Given the description of an element on the screen output the (x, y) to click on. 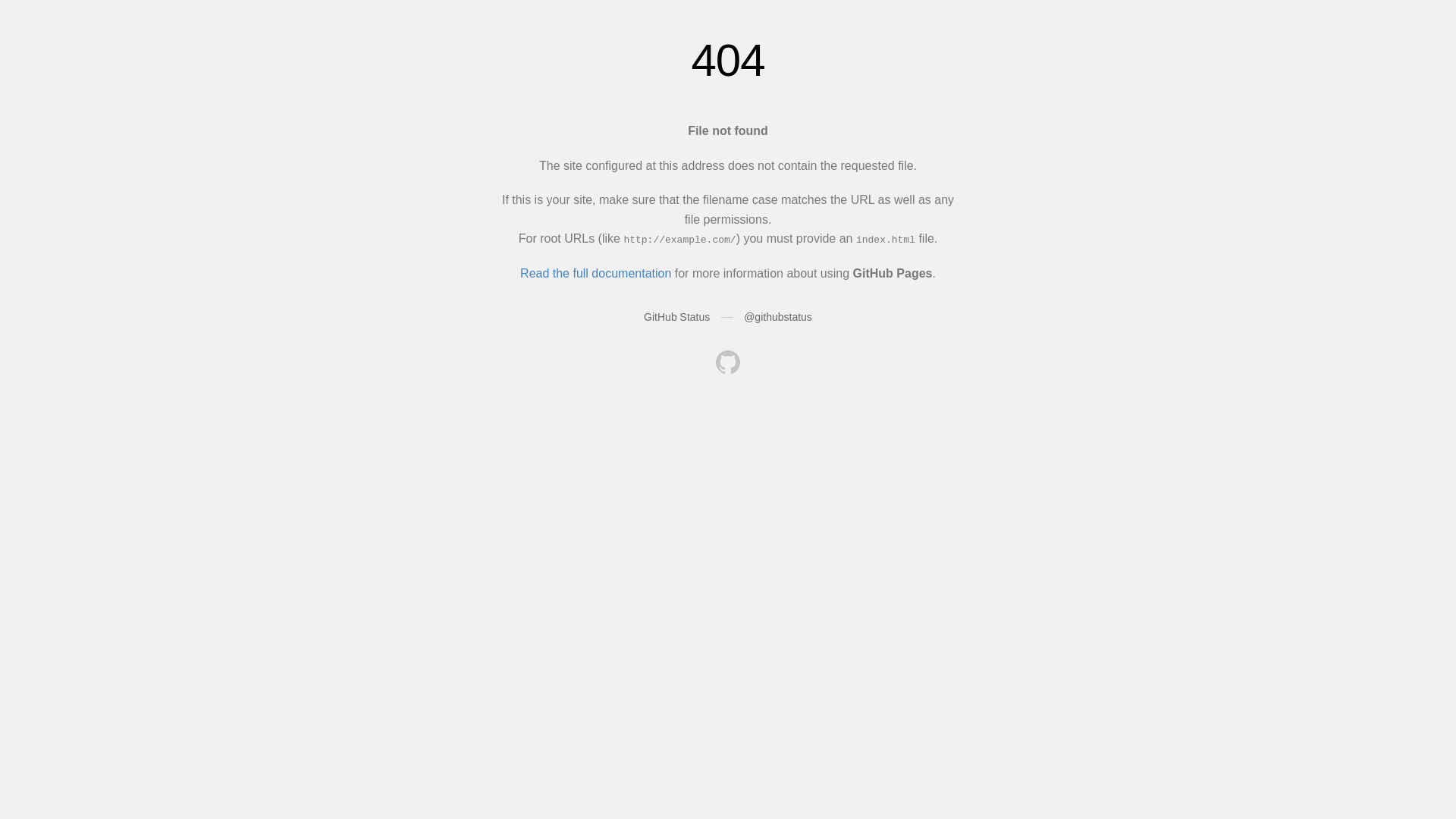
Read the full documentation Element type: text (595, 272)
GitHub Status Element type: text (676, 316)
@githubstatus Element type: text (777, 316)
